Given the description of an element on the screen output the (x, y) to click on. 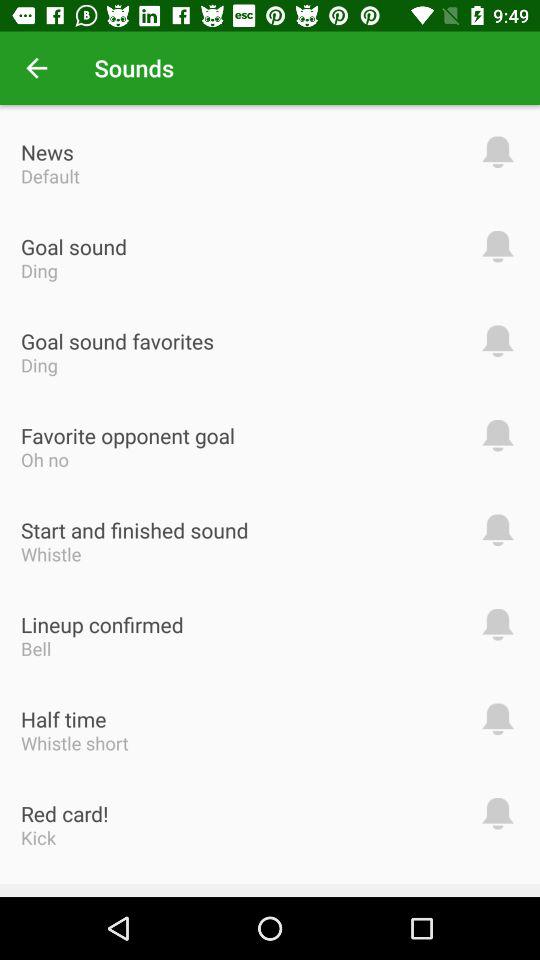
tap the icon above the news icon (36, 68)
